Given the description of an element on the screen output the (x, y) to click on. 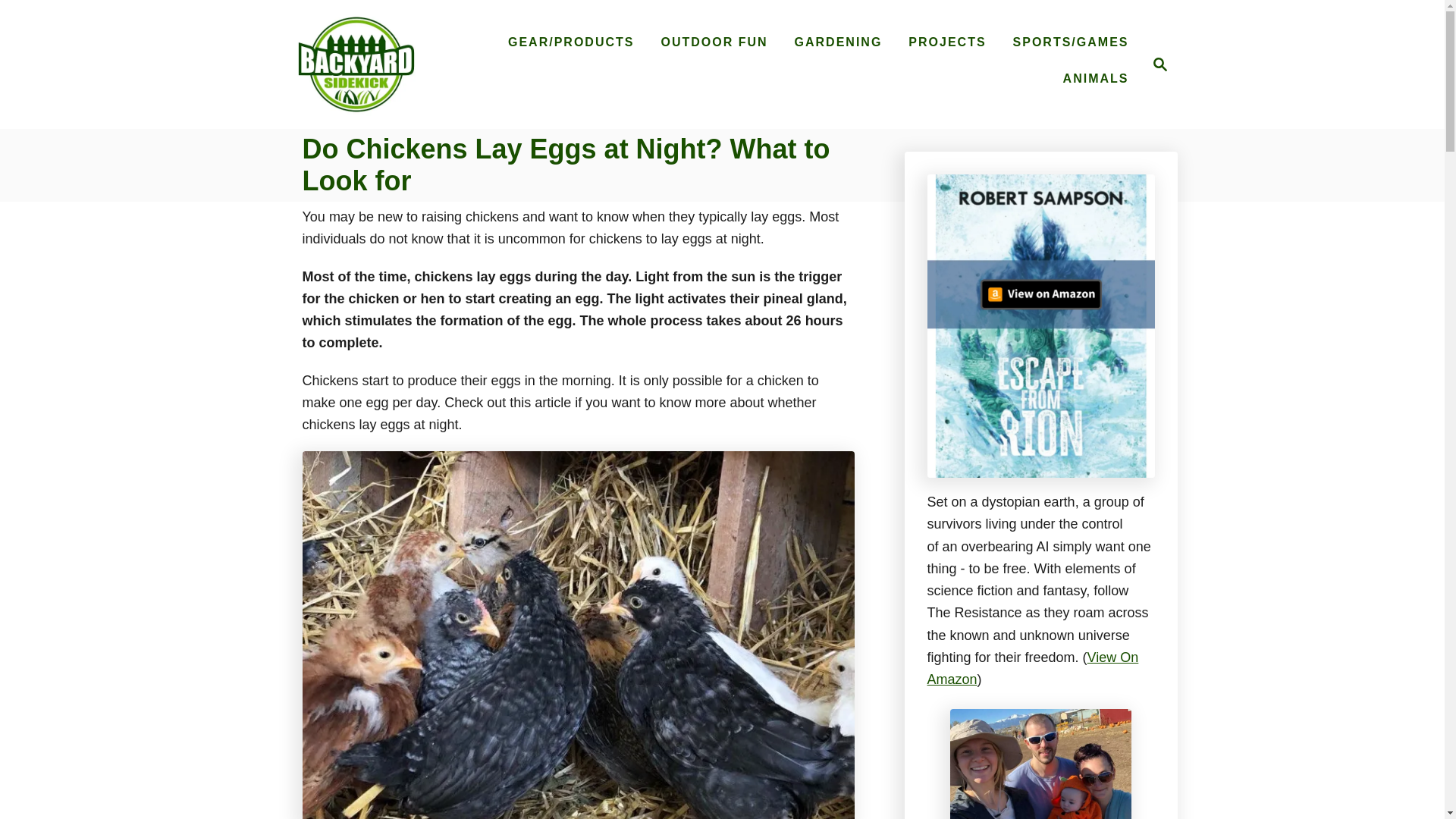
OUTDOOR FUN (713, 41)
Magnifying Glass (1155, 64)
Backyard Sidekick (1160, 64)
ANIMALS (355, 64)
GARDENING (1096, 78)
PROJECTS (838, 41)
